Given the description of an element on the screen output the (x, y) to click on. 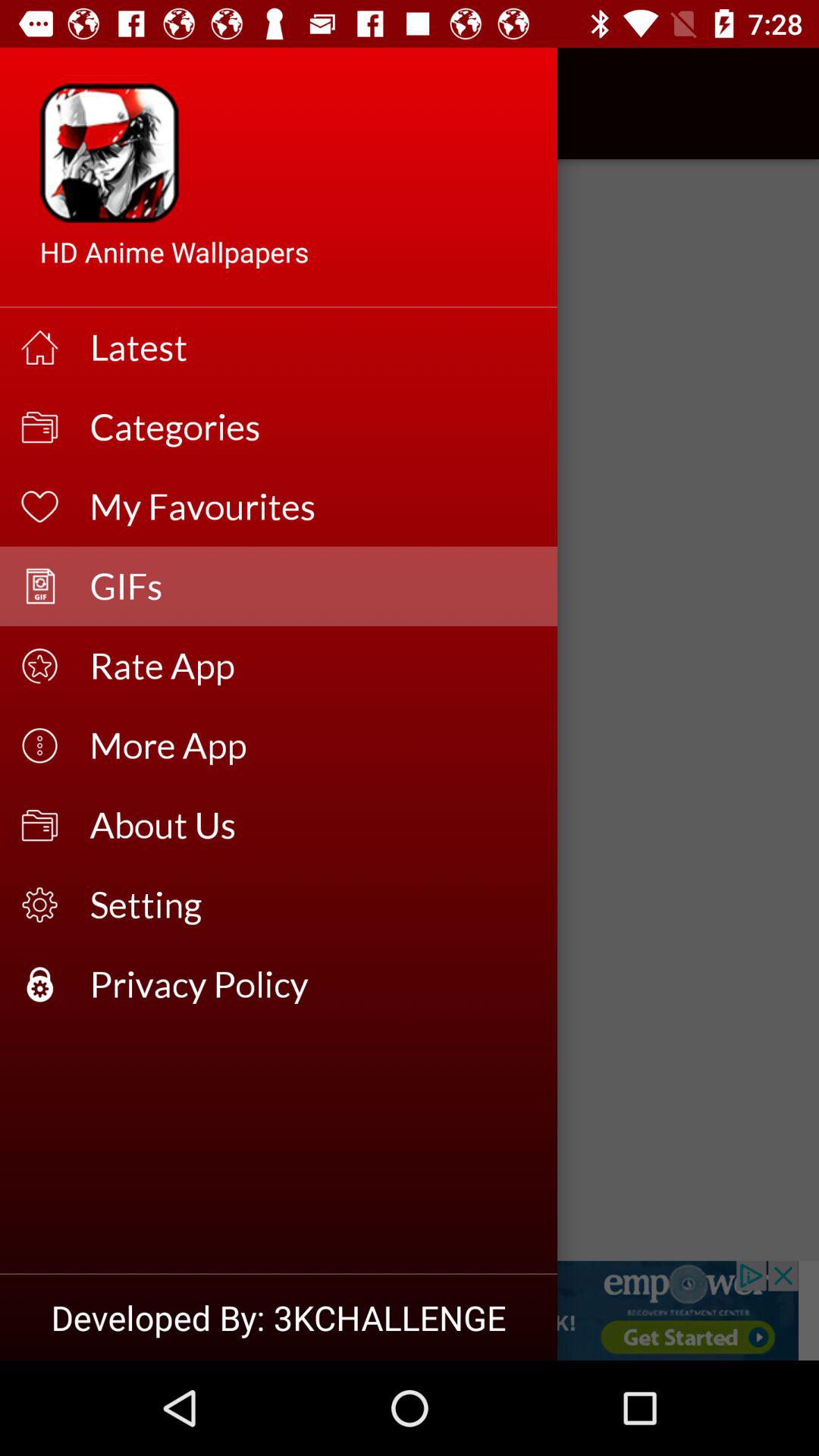
choose the rate app icon (313, 665)
